Given the description of an element on the screen output the (x, y) to click on. 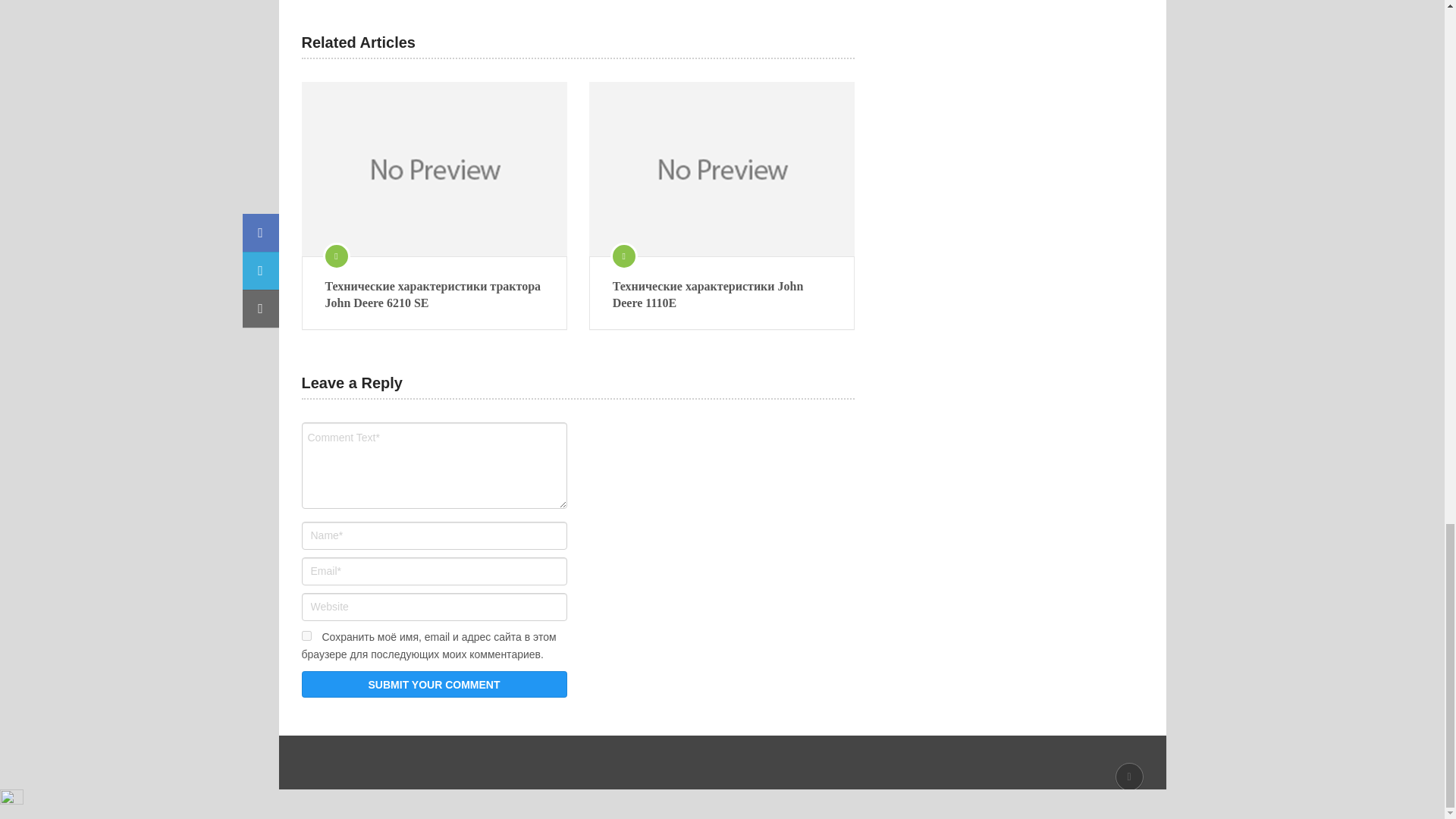
LiveInternet (11, 801)
yes (306, 635)
Submit Your Comment (434, 683)
